Given the description of an element on the screen output the (x, y) to click on. 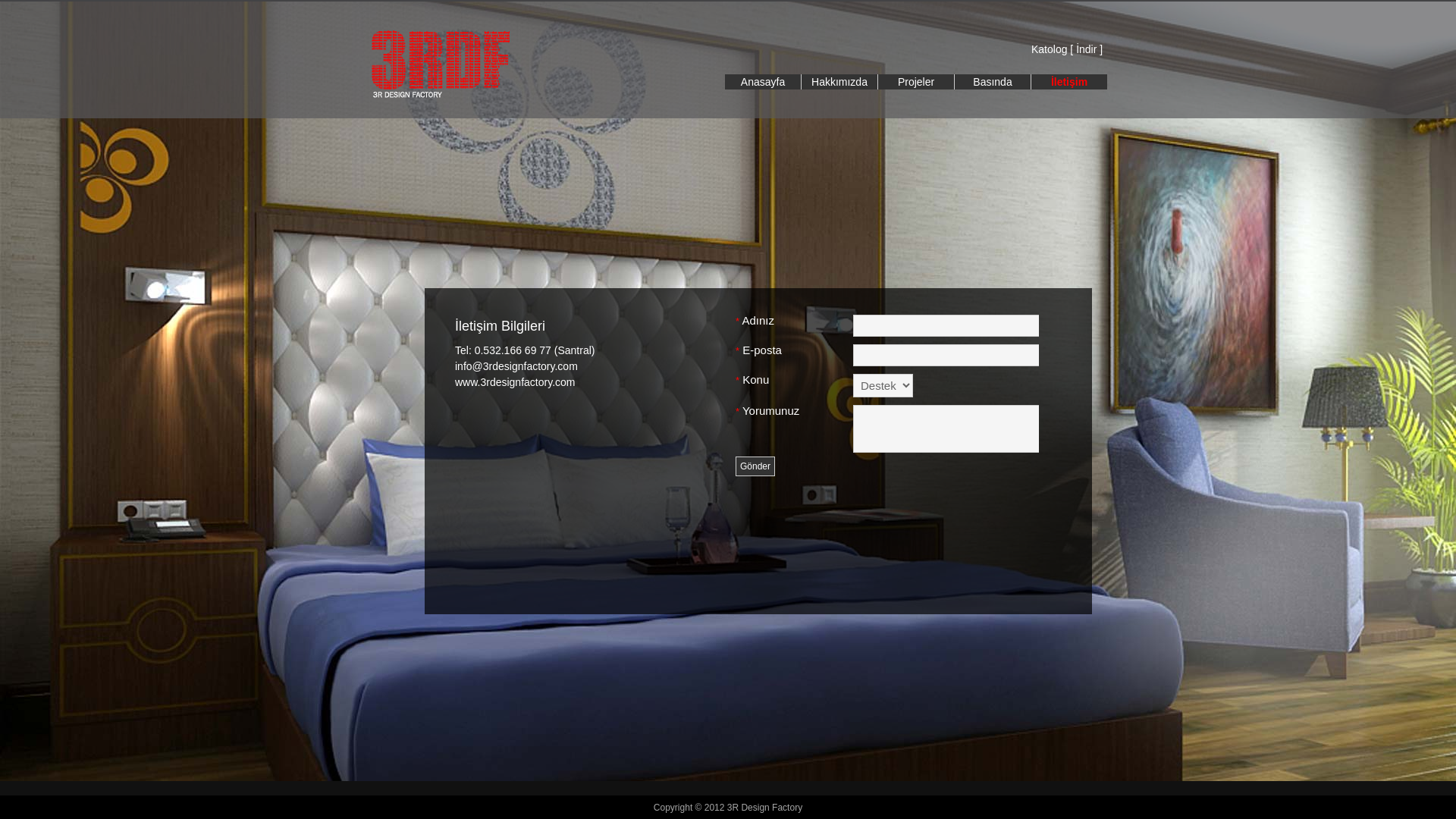
Anasayfa Element type: text (762, 81)
Projeler Element type: text (915, 81)
